Given the description of an element on the screen output the (x, y) to click on. 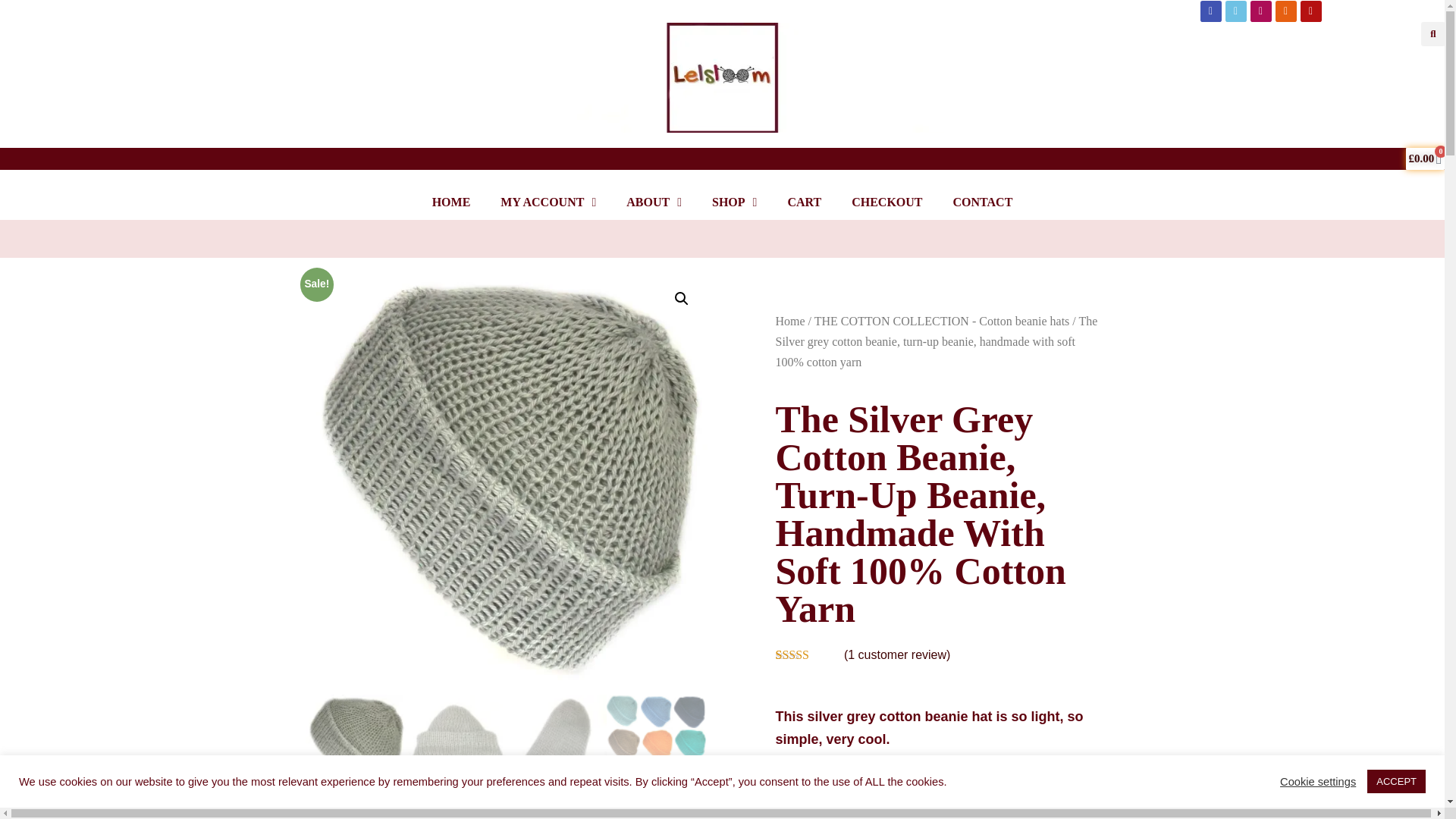
CHECKOUT (886, 202)
CONTACT (982, 202)
ABOUT (654, 202)
HOME (451, 202)
SHOP (734, 202)
CART (803, 202)
MY ACCOUNT (547, 202)
